Given the description of an element on the screen output the (x, y) to click on. 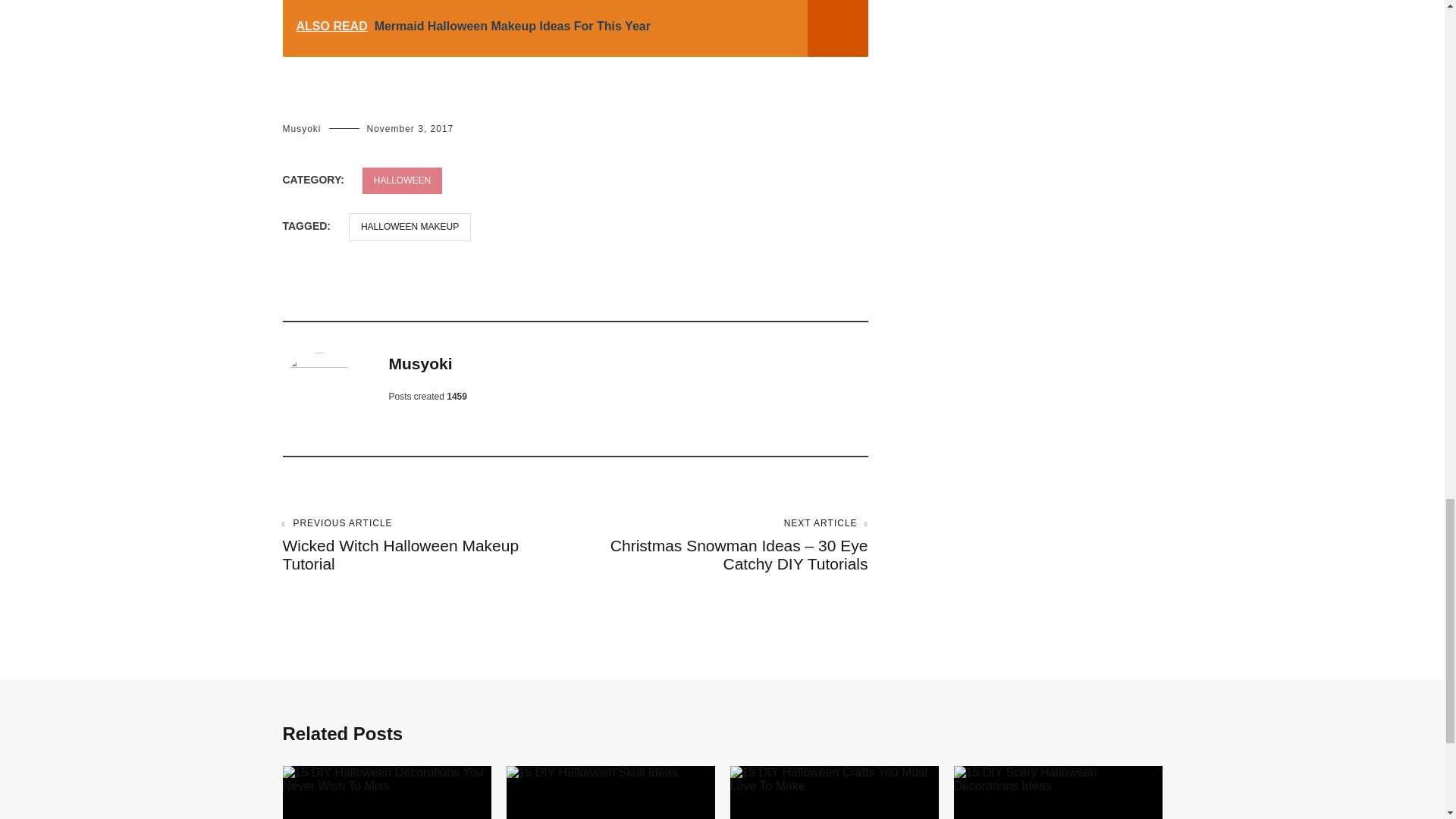
Posts by Musyoki (419, 363)
